Given the description of an element on the screen output the (x, y) to click on. 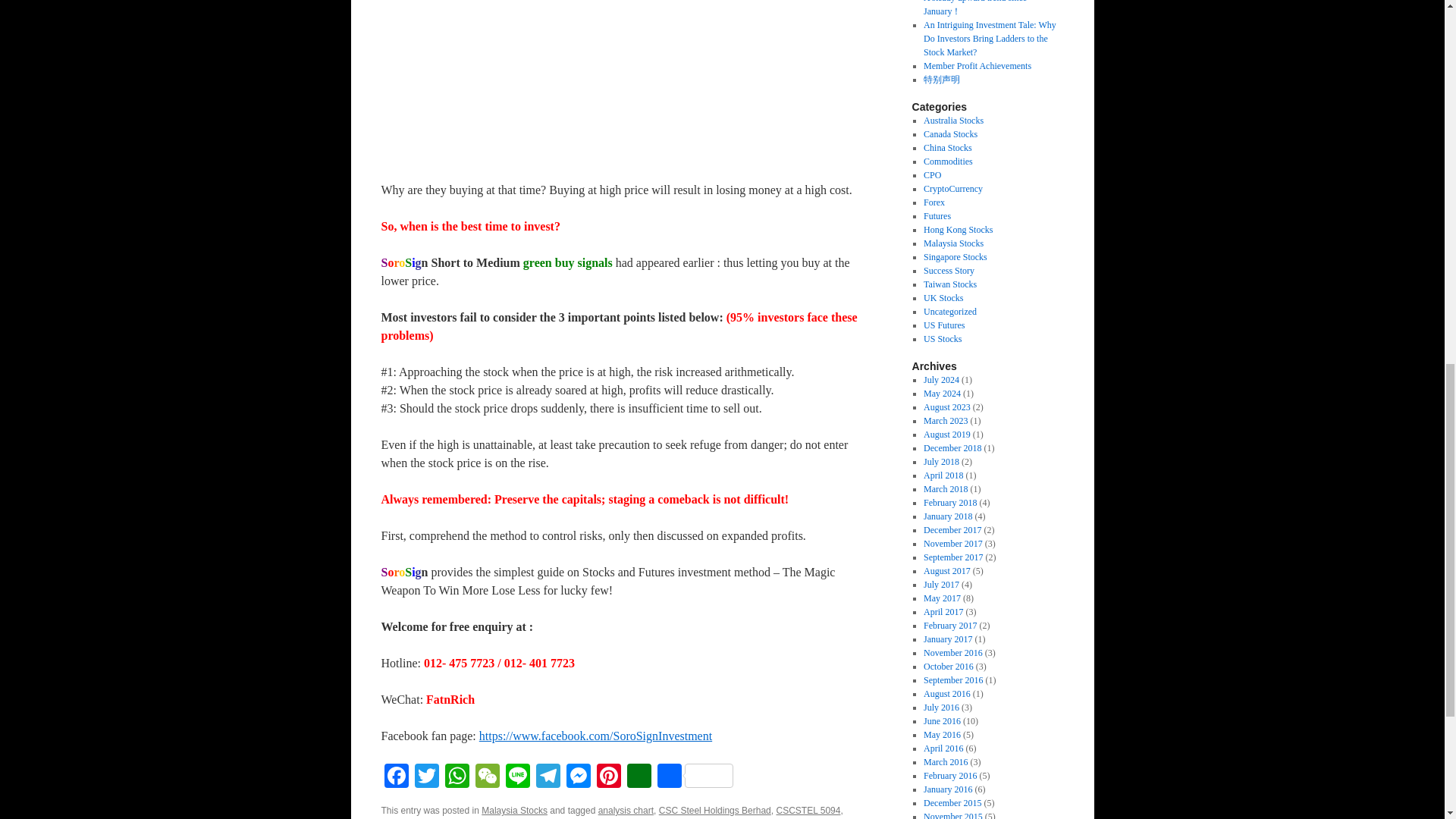
Twitter (425, 777)
Telegram (547, 777)
Line (517, 777)
Telegram (547, 777)
WeChat (486, 777)
Twitter (425, 777)
Messenger (577, 777)
Facebook (395, 777)
Facebook (395, 777)
Pinterest (607, 777)
Pinterest (607, 777)
WeChat (486, 777)
Line (517, 777)
CSCSTEL 5094 (808, 810)
Malaysia stock CSC Steel Holdings Berhad CSCSTEL 5094 (623, 85)
